Given the description of an element on the screen output the (x, y) to click on. 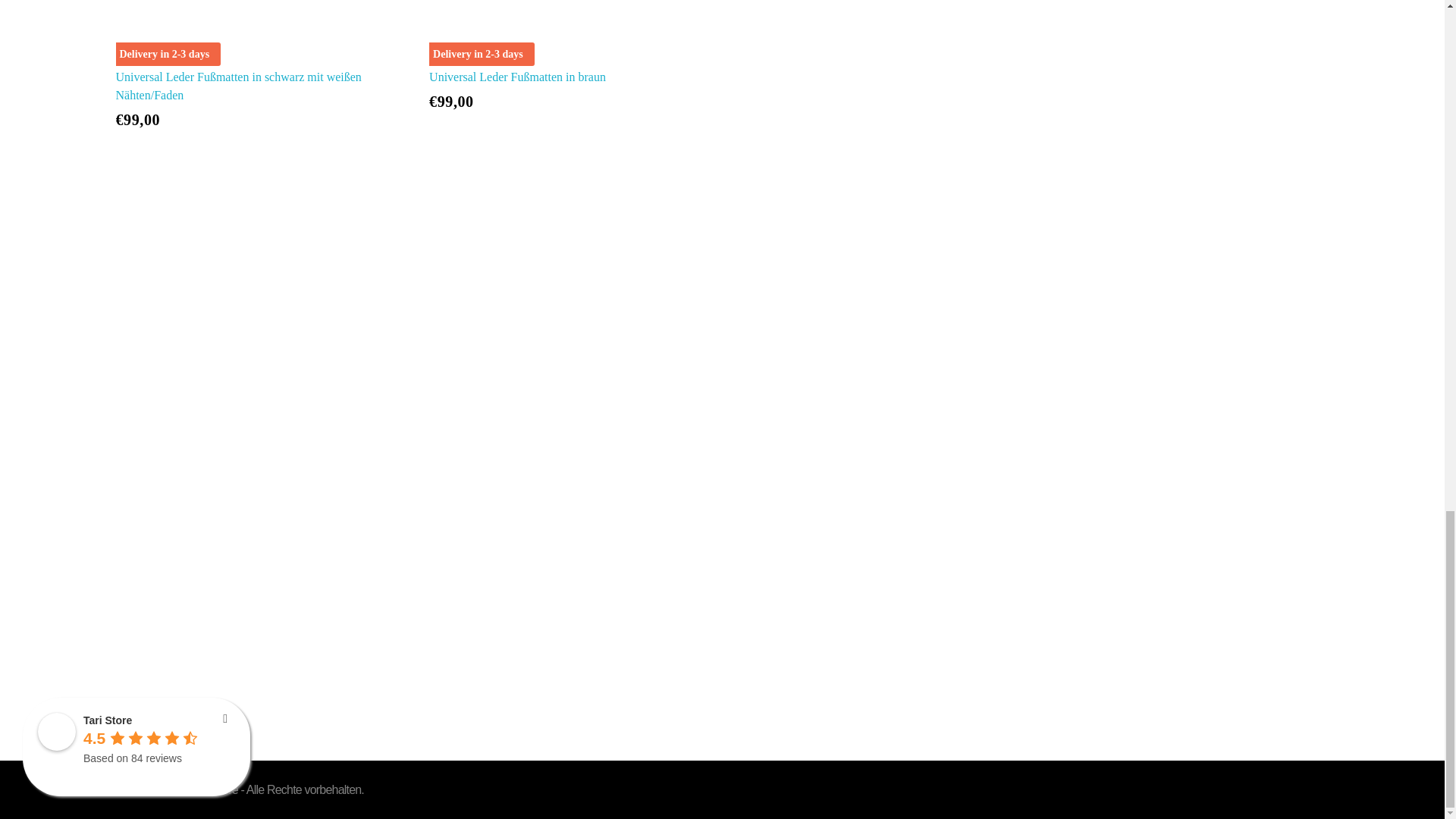
Delivery in 2-3 days (563, 31)
Delivery in 2-3 days (248, 31)
